Given the description of an element on the screen output the (x, y) to click on. 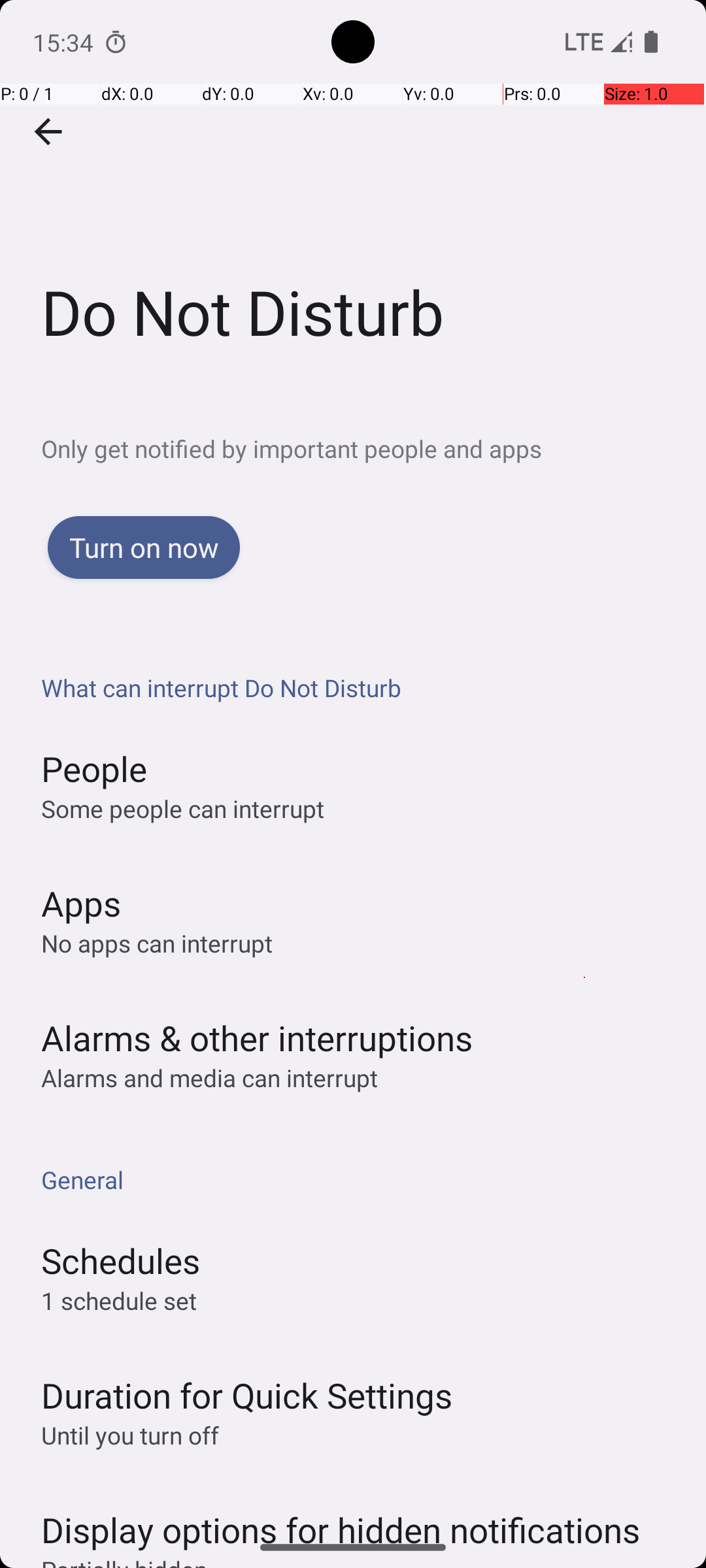
Only get notified by important people and apps Element type: android.widget.TextView (373, 448)
What can interrupt Do Not Disturb Element type: android.widget.TextView (359, 687)
People Element type: android.widget.TextView (94, 768)
Some people can interrupt Element type: android.widget.TextView (182, 808)
No apps can interrupt Element type: android.widget.TextView (156, 942)
Alarms & other interruptions Element type: android.widget.TextView (256, 1037)
Alarms and media can interrupt Element type: android.widget.TextView (209, 1077)
Schedules Element type: android.widget.TextView (120, 1260)
1 schedule set Element type: android.widget.TextView (118, 1300)
Duration for Quick Settings Element type: android.widget.TextView (246, 1395)
Display options for hidden notifications Element type: android.widget.TextView (340, 1516)
